Given the description of an element on the screen output the (x, y) to click on. 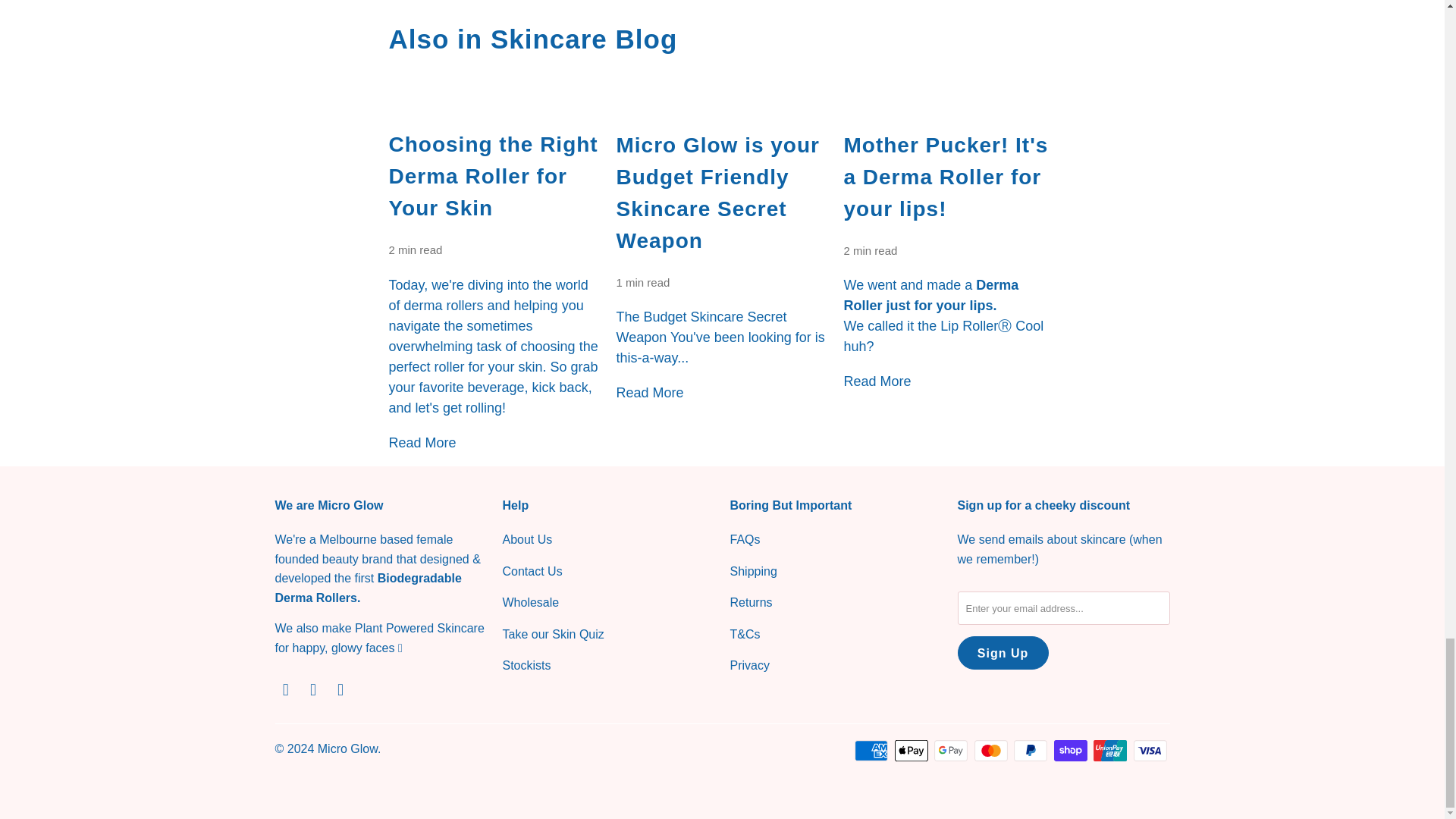
Micro Glow is your Budget Friendly Skincare Secret Weapon (721, 98)
Choosing the Right Derma Roller for Your Skin (493, 98)
Mastercard (992, 750)
Union Pay (1111, 750)
Google Pay (952, 750)
Mother Pucker!  It's a Derma Roller for your lips! (945, 176)
PayPal (1031, 750)
Mother Pucker!  It's a Derma Roller for your lips! (949, 98)
Sign Up (1002, 652)
Visa (1150, 750)
